Given the description of an element on the screen output the (x, y) to click on. 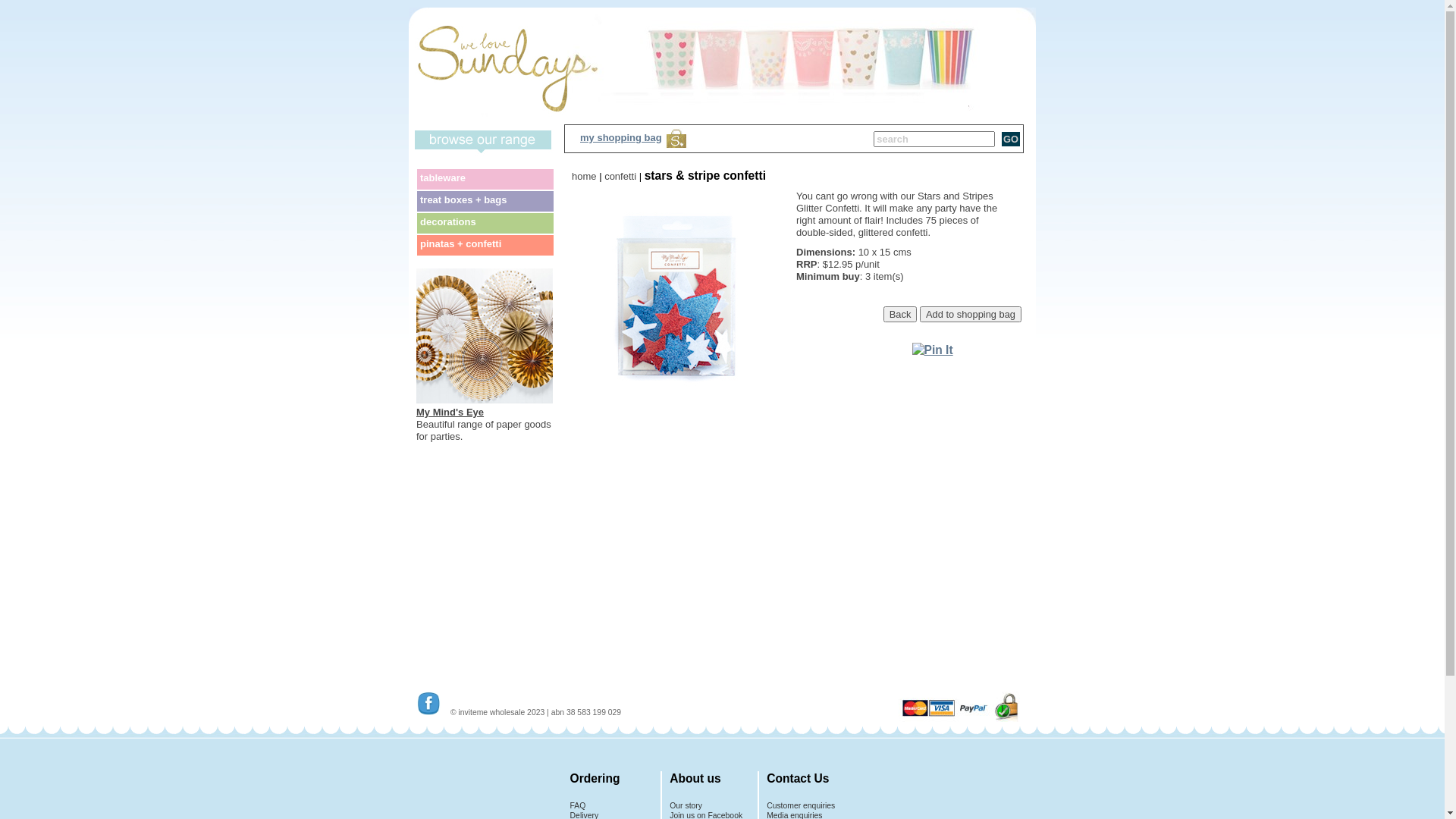
Pin It Element type: hover (932, 349)
my shopping bag Element type: text (621, 137)
Customer enquiries Element type: text (800, 805)
Our story Element type: text (685, 805)
decorations Element type: text (485, 223)
tableware Element type: text (485, 179)
search Element type: text (933, 139)
FAQ Element type: text (578, 805)
pinatas + confetti Element type: text (485, 245)
treat boxes + bags Element type: text (485, 201)
confetti Element type: text (620, 176)
home Element type: text (583, 176)
Add to shopping bag Element type: text (970, 314)
GO Element type: text (1010, 138)
Stars & Stripe confetti Element type: hover (676, 394)
